Given the description of an element on the screen output the (x, y) to click on. 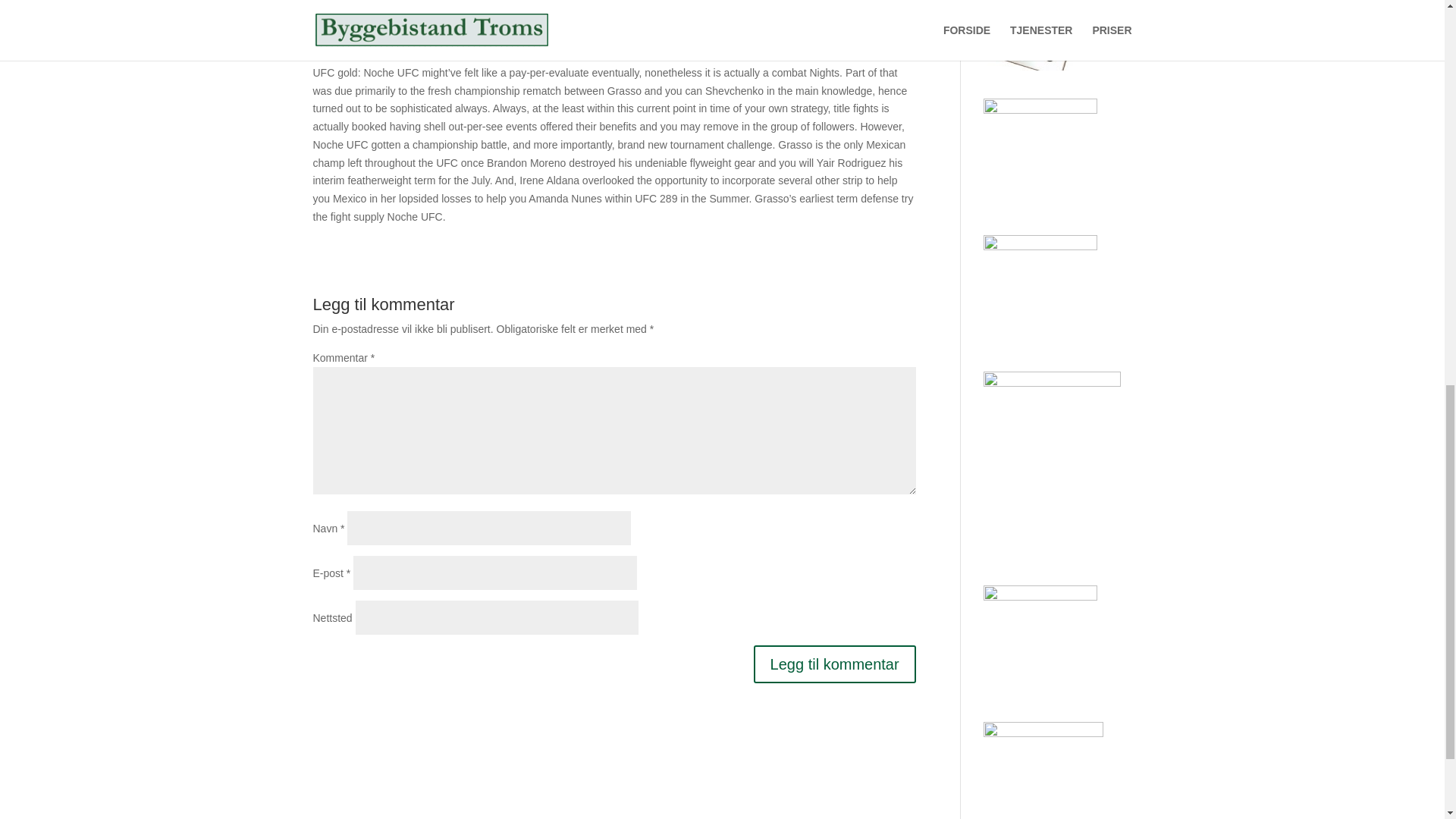
Legg til kommentar (834, 664)
Legg til kommentar (834, 664)
Balinese hot women (360, 25)
